Given the description of an element on the screen output the (x, y) to click on. 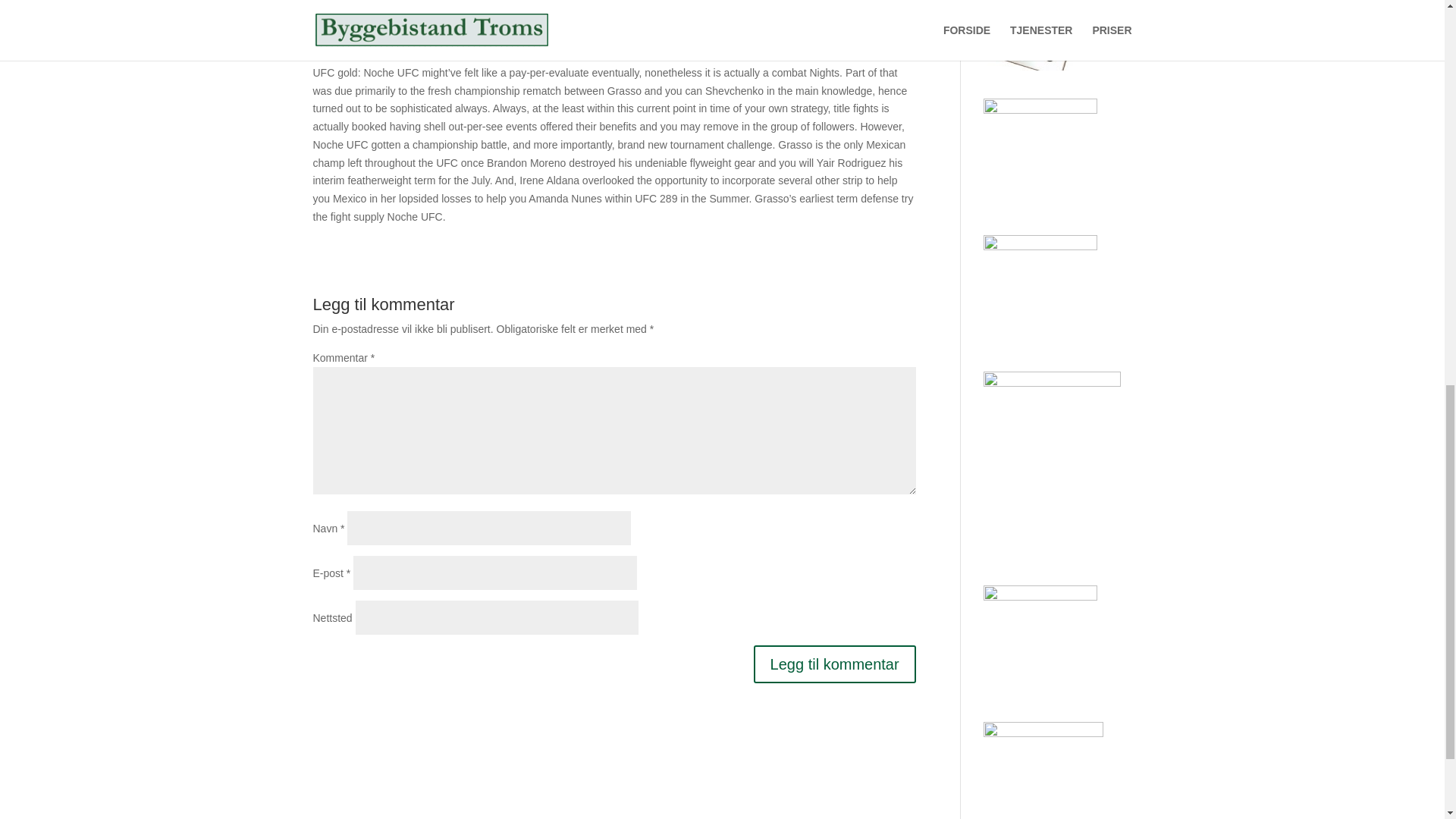
Legg til kommentar (834, 664)
Legg til kommentar (834, 664)
Balinese hot women (360, 25)
